Given the description of an element on the screen output the (x, y) to click on. 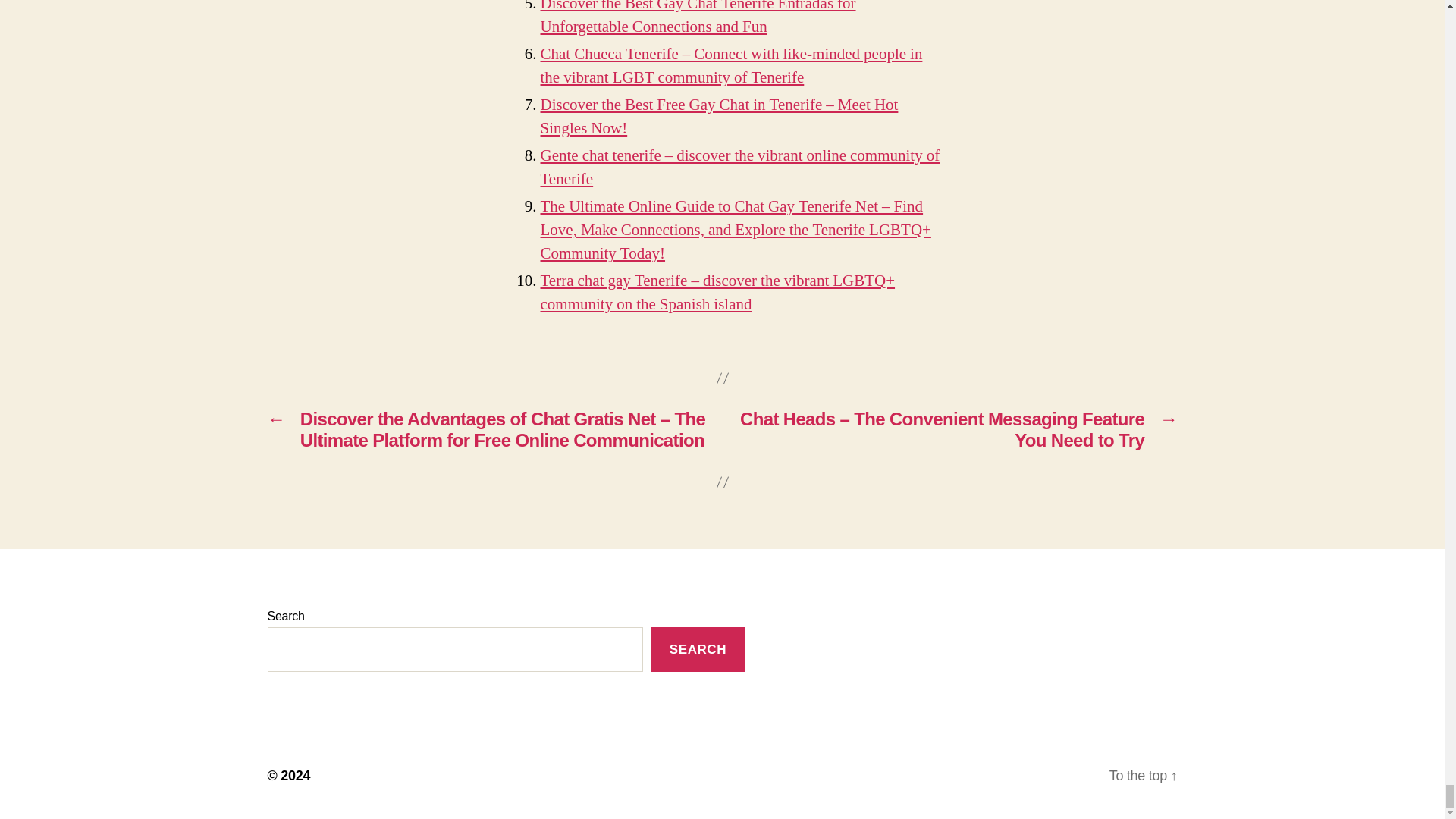
SEARCH (697, 649)
